Given the description of an element on the screen output the (x, y) to click on. 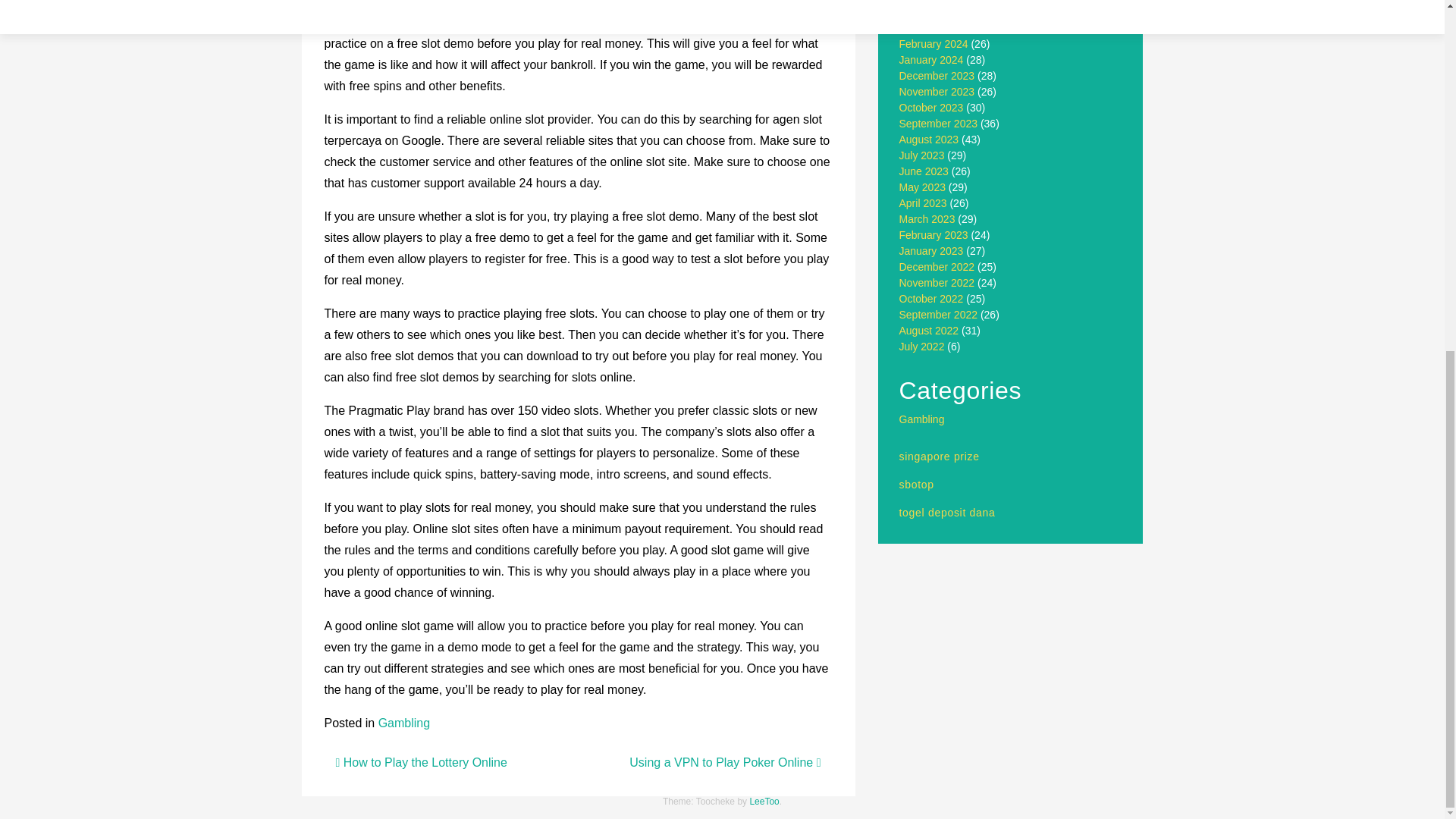
September 2023 (938, 123)
May 2023 (921, 186)
February 2023 (933, 234)
January 2024 (931, 60)
November 2022 (937, 282)
March 2024 (927, 28)
July 2023 (921, 155)
Gambling (403, 722)
June 2023 (924, 171)
Using a VPN to Play Poker Online  (724, 762)
 How to Play the Lottery Online (420, 762)
July 2022 (921, 346)
August 2022 (929, 330)
October 2022 (931, 298)
September 2022 (938, 314)
